Given the description of an element on the screen output the (x, y) to click on. 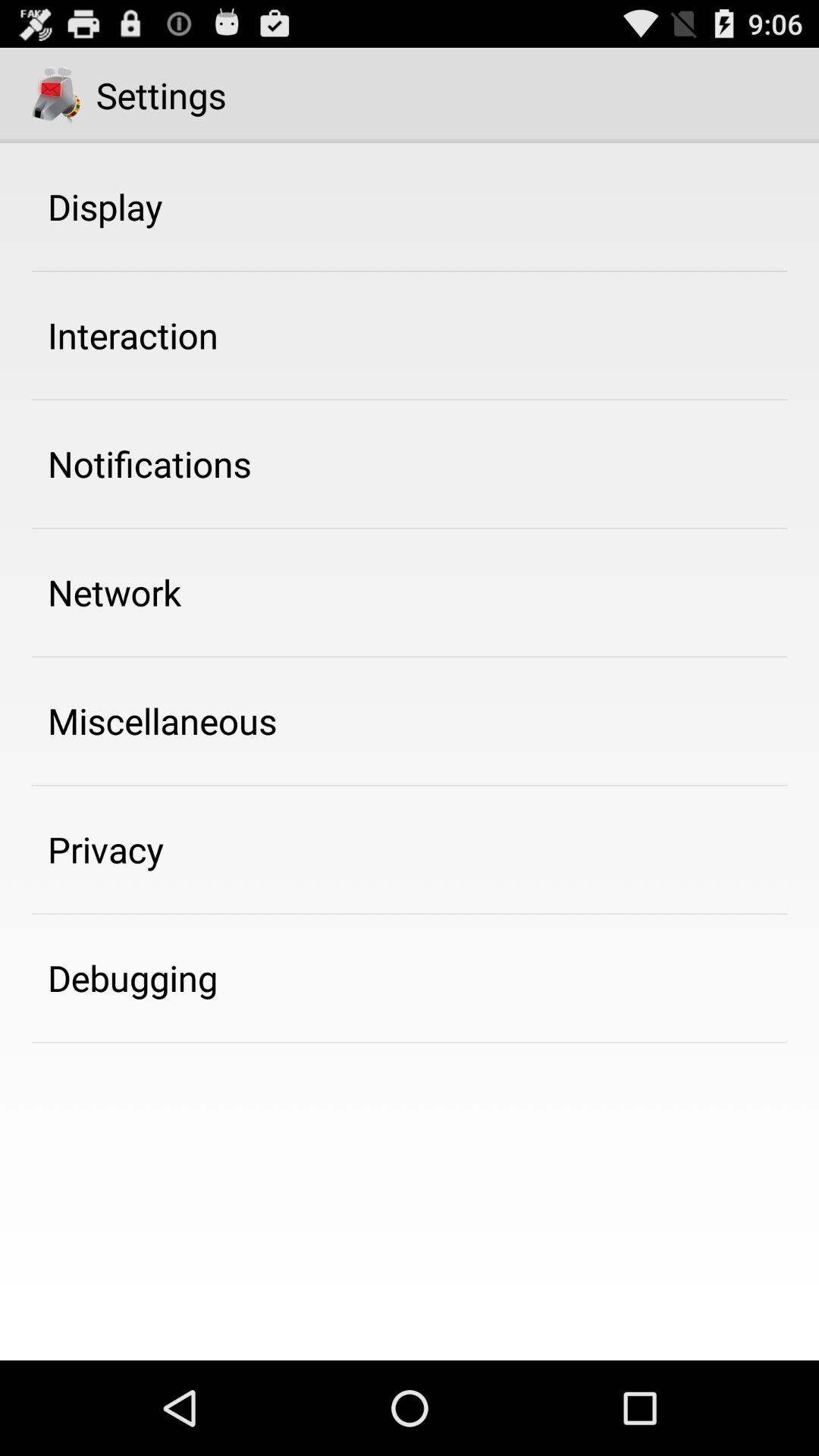
click item above the notifications icon (132, 335)
